Given the description of an element on the screen output the (x, y) to click on. 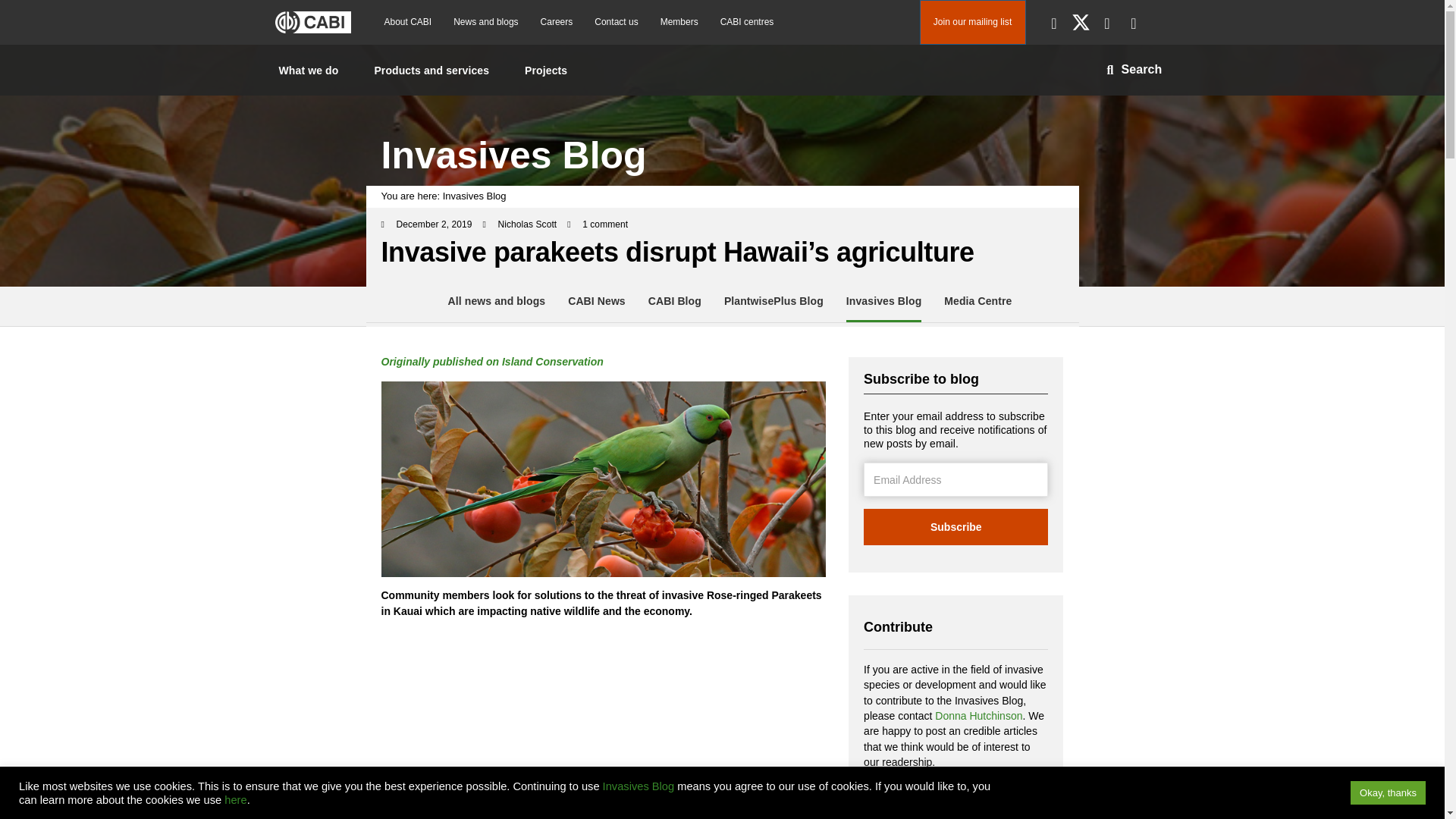
About CABI (407, 21)
Careers (556, 21)
News and blogs (485, 21)
Contact us (615, 21)
Members (679, 21)
CABI centres (747, 21)
Join our mailing list (971, 22)
